Given the description of an element on the screen output the (x, y) to click on. 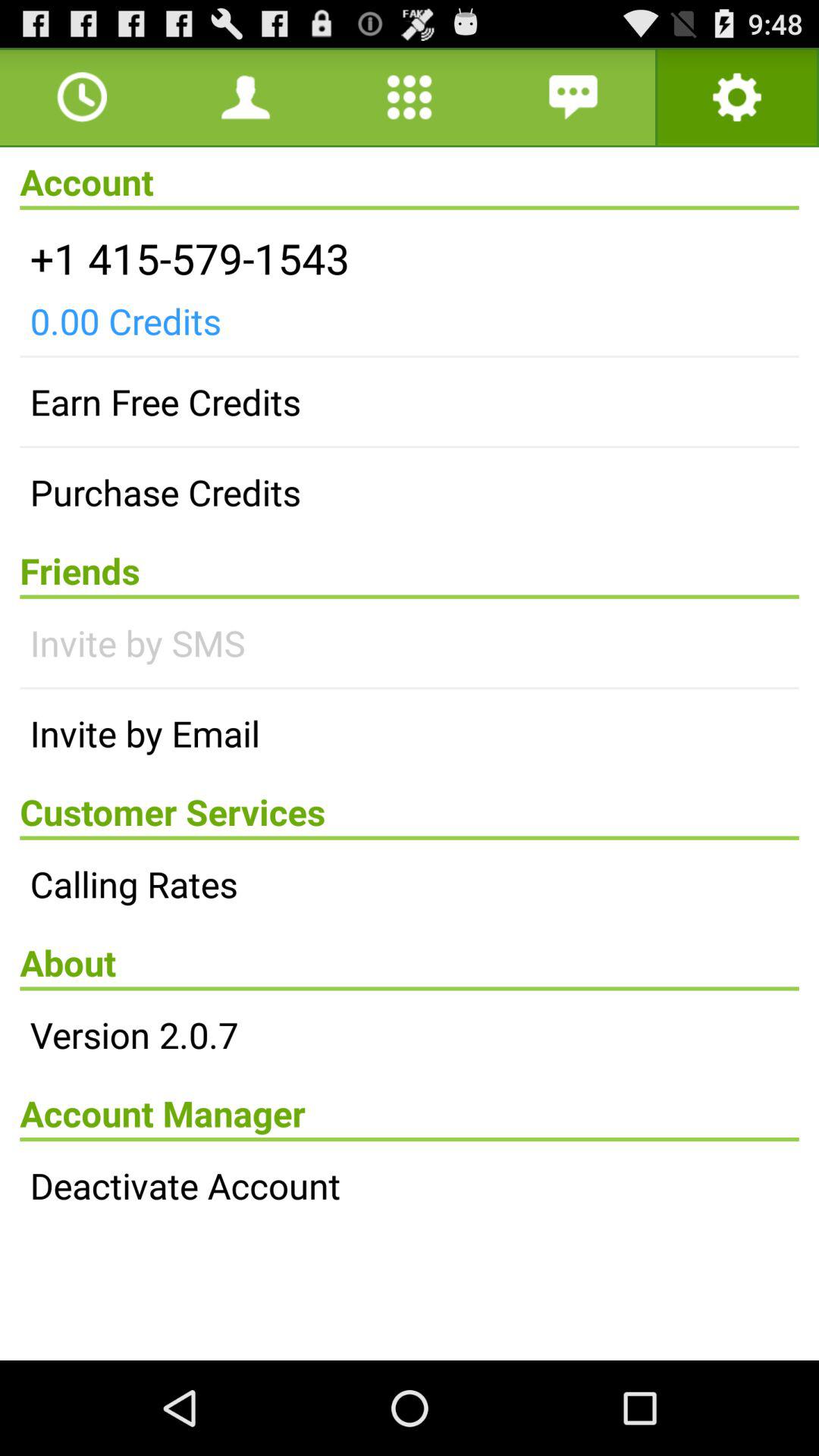
swipe until the deactivate account icon (409, 1185)
